Given the description of an element on the screen output the (x, y) to click on. 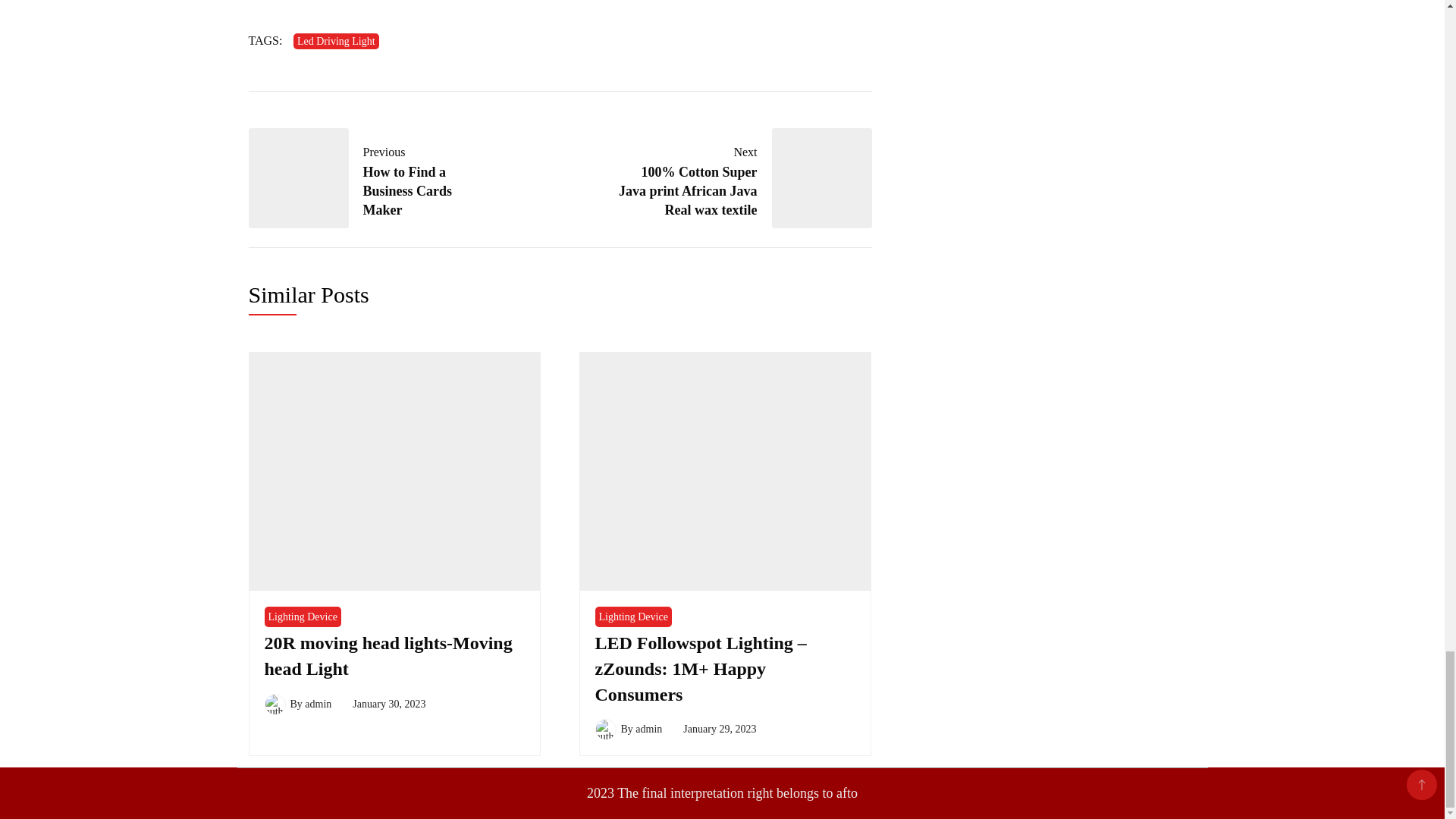
Lighting Device (301, 616)
January 30, 2023 (388, 704)
admin (648, 728)
Lighting Device (632, 616)
20R moving head lights-Moving head Light (372, 178)
admin (387, 655)
Led Driving Light (317, 704)
January 29, 2023 (336, 41)
